Given the description of an element on the screen output the (x, y) to click on. 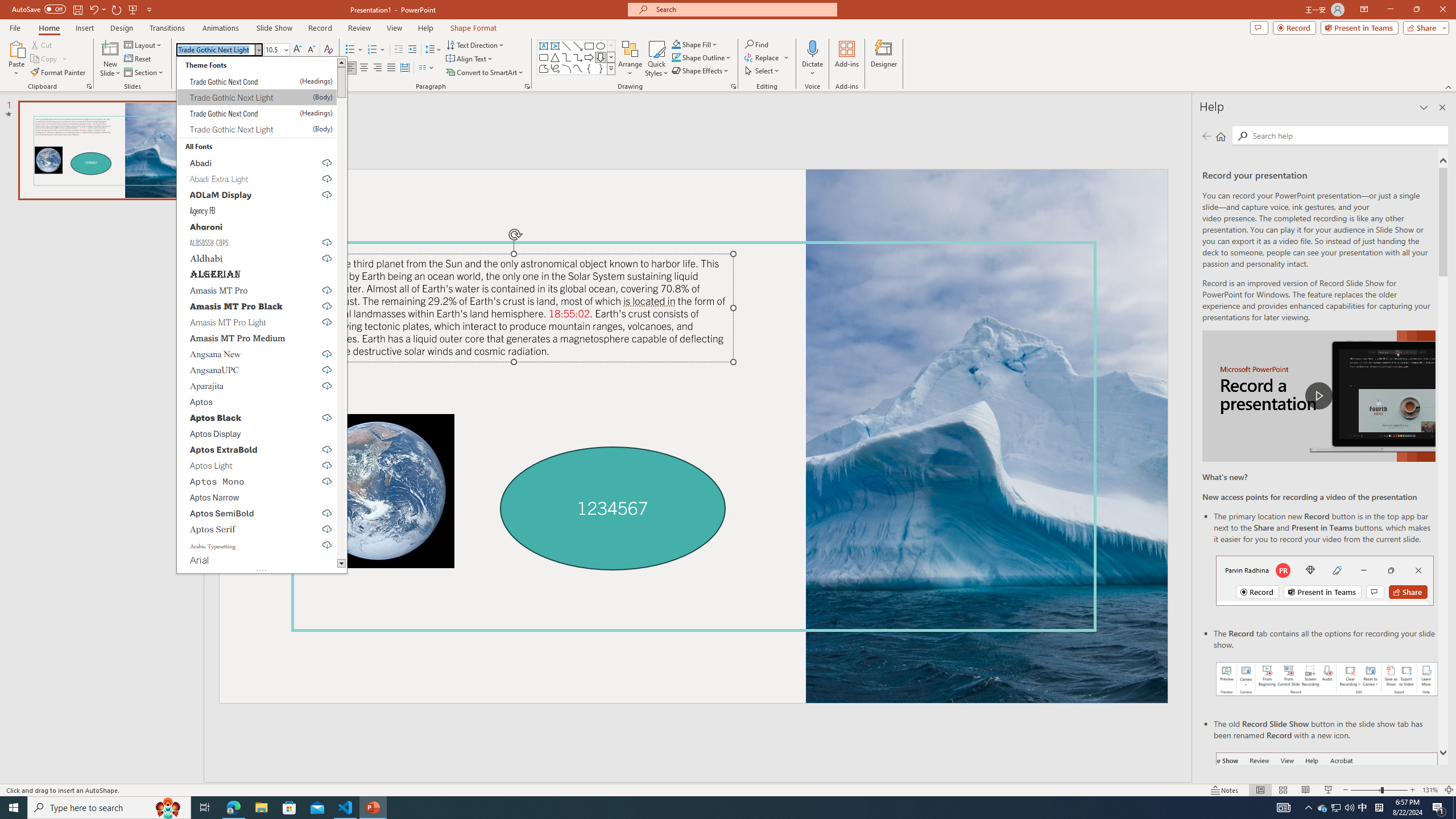
Review (359, 28)
Row up (611, 45)
Font Size (276, 49)
Vertical Text Box (554, 45)
Aptos Black, select to download (256, 417)
Distributed (404, 67)
Select (762, 69)
Aldhabi, select to download (256, 258)
Record your presentations screenshot one (1326, 678)
Zoom (1379, 790)
Center (363, 67)
Restore Down (1416, 9)
Save (77, 9)
